Given the description of an element on the screen output the (x, y) to click on. 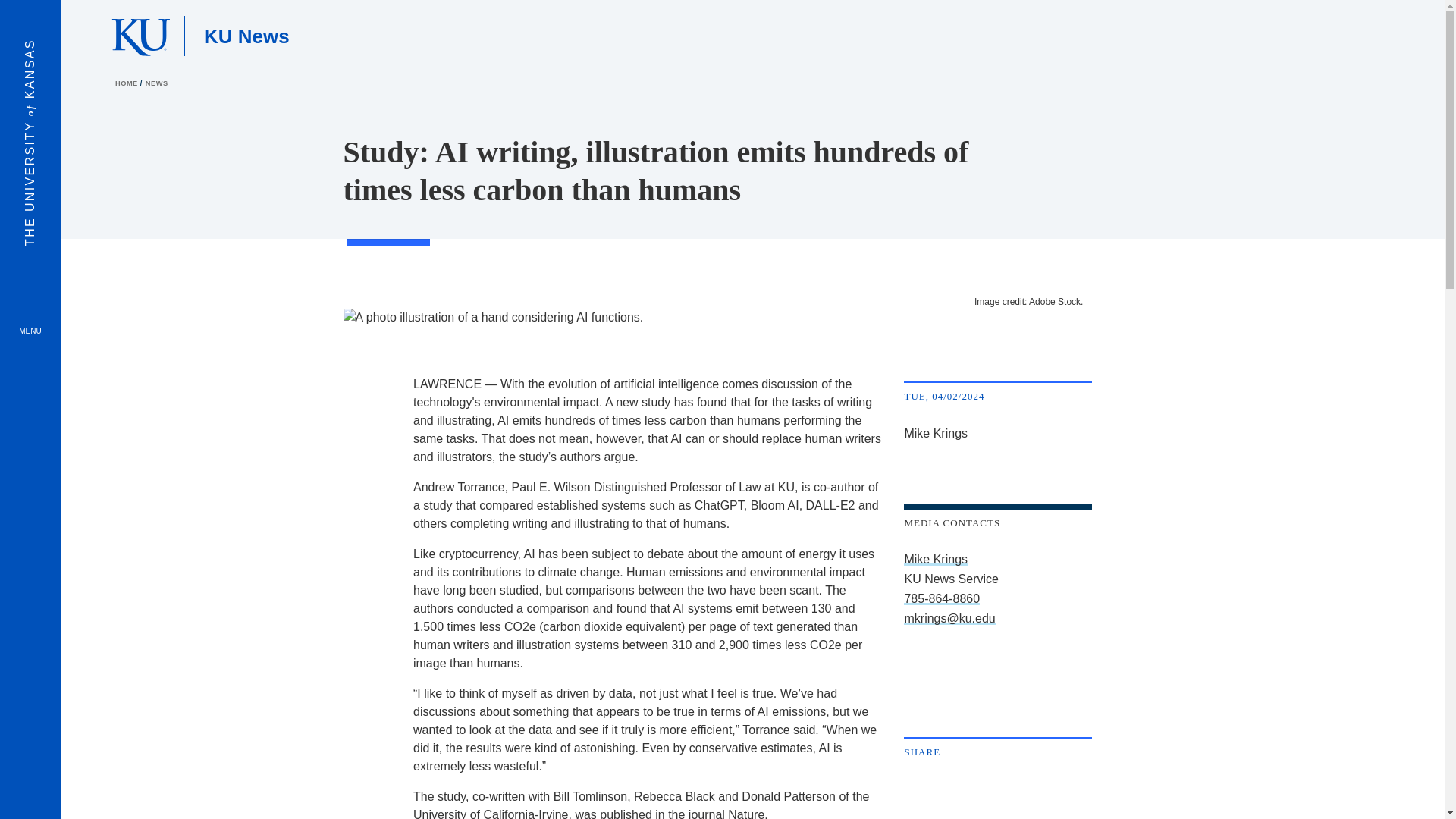
Start search (1377, 35)
HOME (127, 82)
link to Mike Krings page (936, 558)
call Mike Krings (941, 598)
KU News (246, 35)
